Given the description of an element on the screen output the (x, y) to click on. 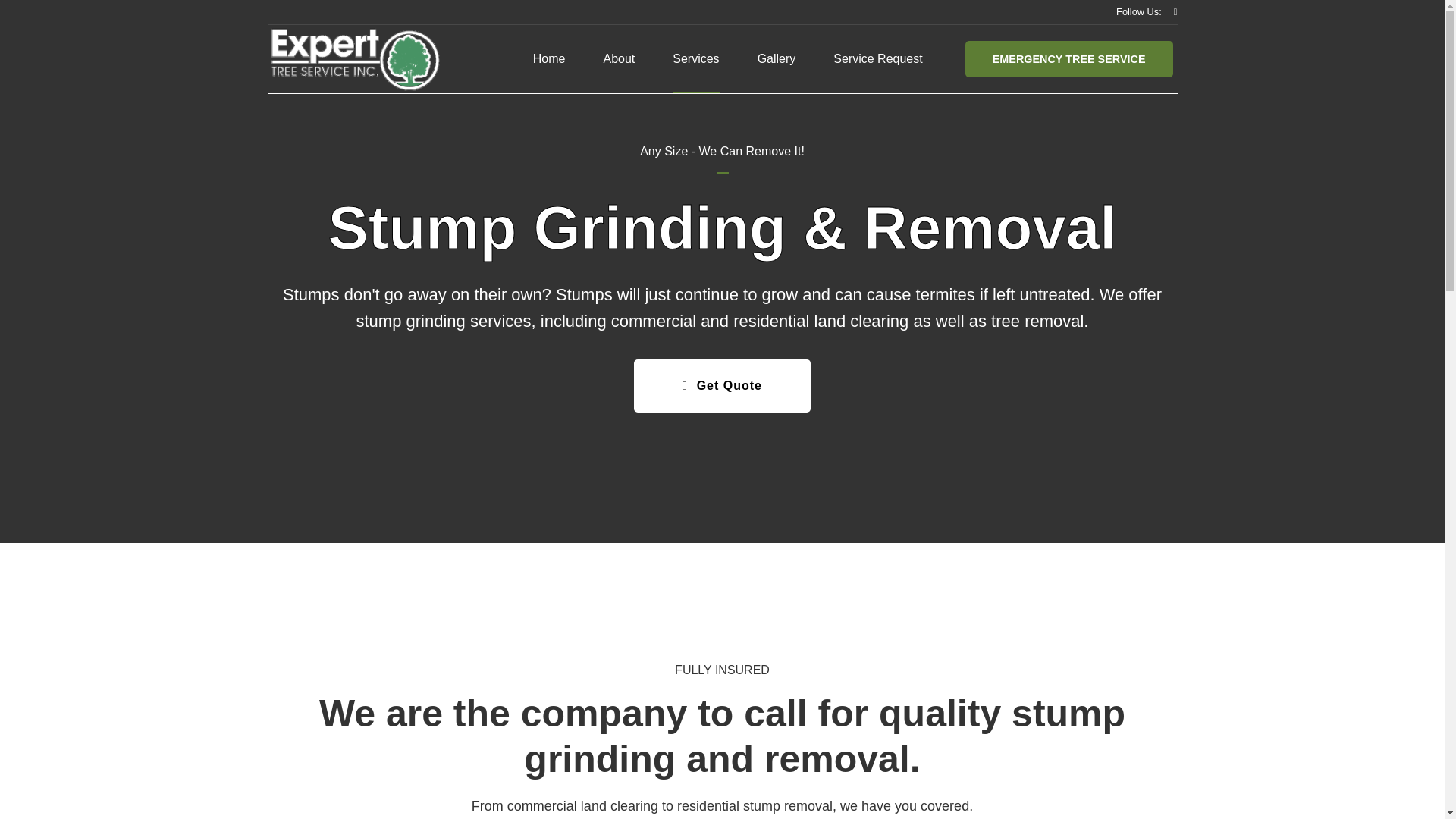
EMERGENCY TREE SERVICE (1069, 58)
Get Quote (721, 385)
Get Quote (721, 385)
Service Request (876, 59)
